Given the description of an element on the screen output the (x, y) to click on. 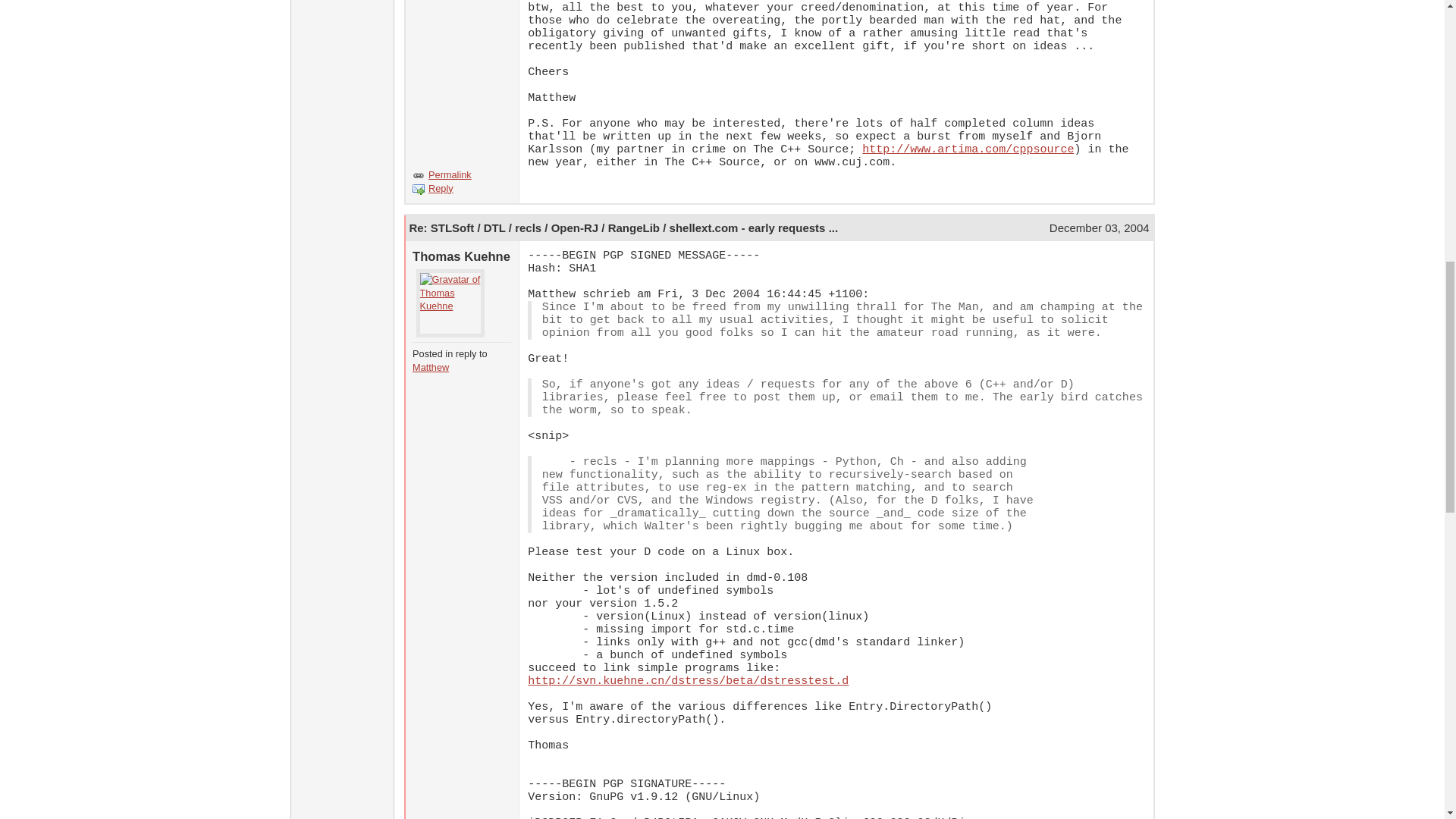
Permanent link to this post (623, 227)
Reply to this post (441, 188)
